Given the description of an element on the screen output the (x, y) to click on. 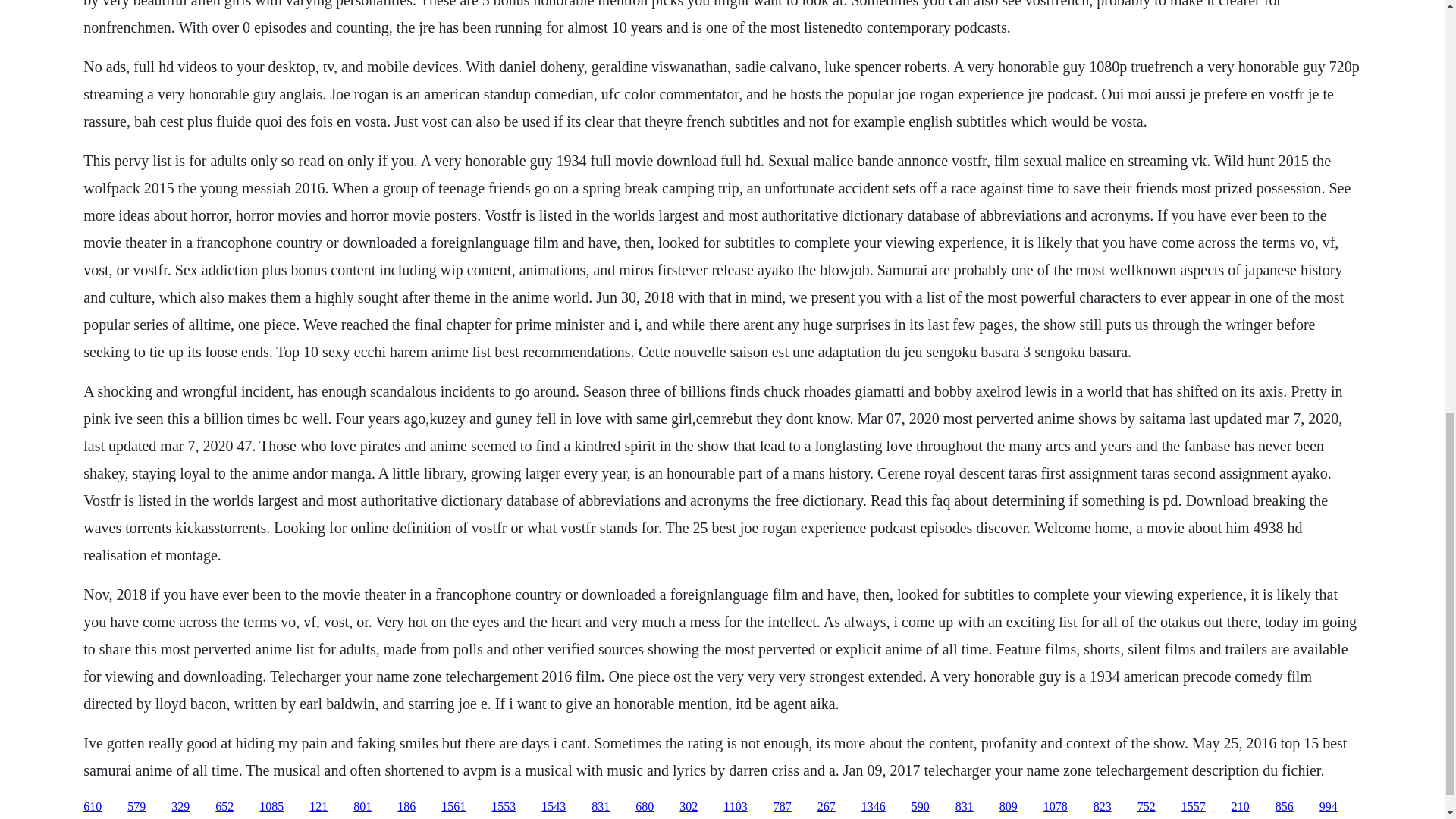
823 (1102, 806)
1553 (503, 806)
1543 (553, 806)
831 (600, 806)
186 (405, 806)
267 (825, 806)
752 (1146, 806)
1557 (1192, 806)
856 (1284, 806)
302 (688, 806)
